Given the description of an element on the screen output the (x, y) to click on. 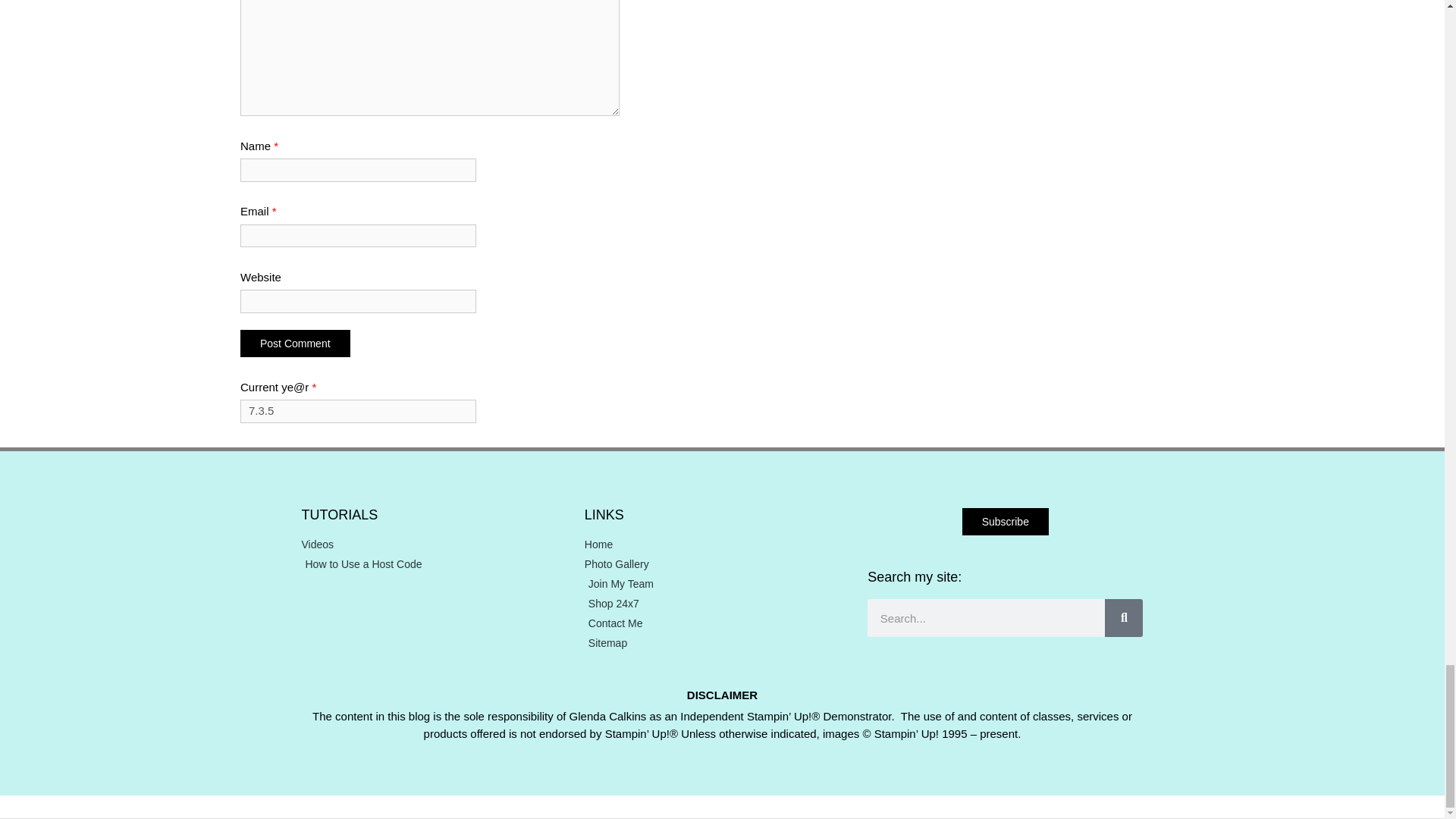
Post Comment (295, 343)
7.3.5 (358, 411)
